Given the description of an element on the screen output the (x, y) to click on. 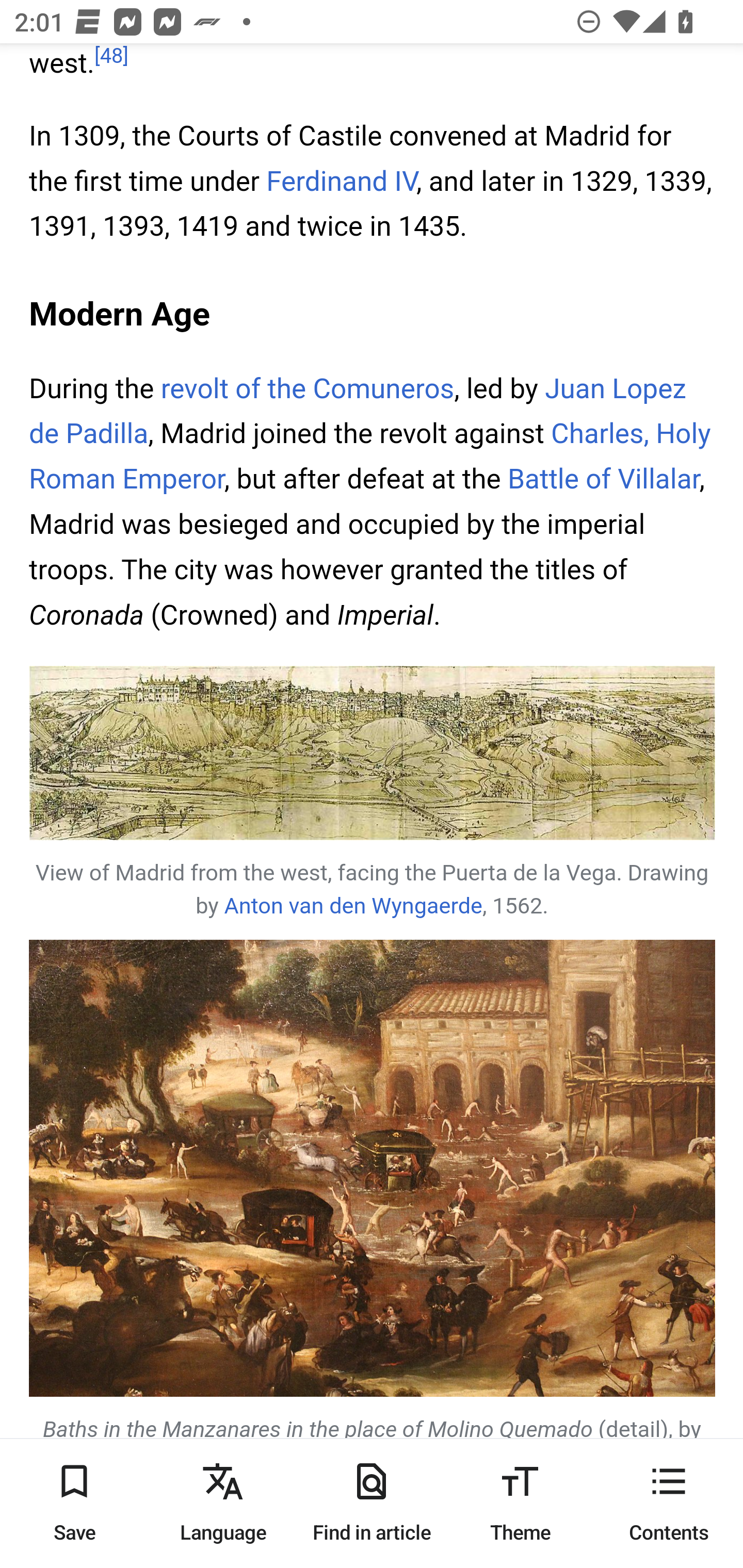
[] [ 48 ] (111, 57)
Ferdinand IV (340, 183)
Juan Lopez de Padilla (358, 413)
revolt of the Comuneros (306, 390)
Charles, Holy Roman Emperor (369, 458)
Battle of Villalar (602, 481)
960px-Dibujo_madrid_1562 (372, 754)
Anton van den Wyngaerde (353, 907)
Save (74, 1502)
Language (222, 1502)
Find in article (371, 1502)
Theme (519, 1502)
Contents (668, 1502)
